Given the description of an element on the screen output the (x, y) to click on. 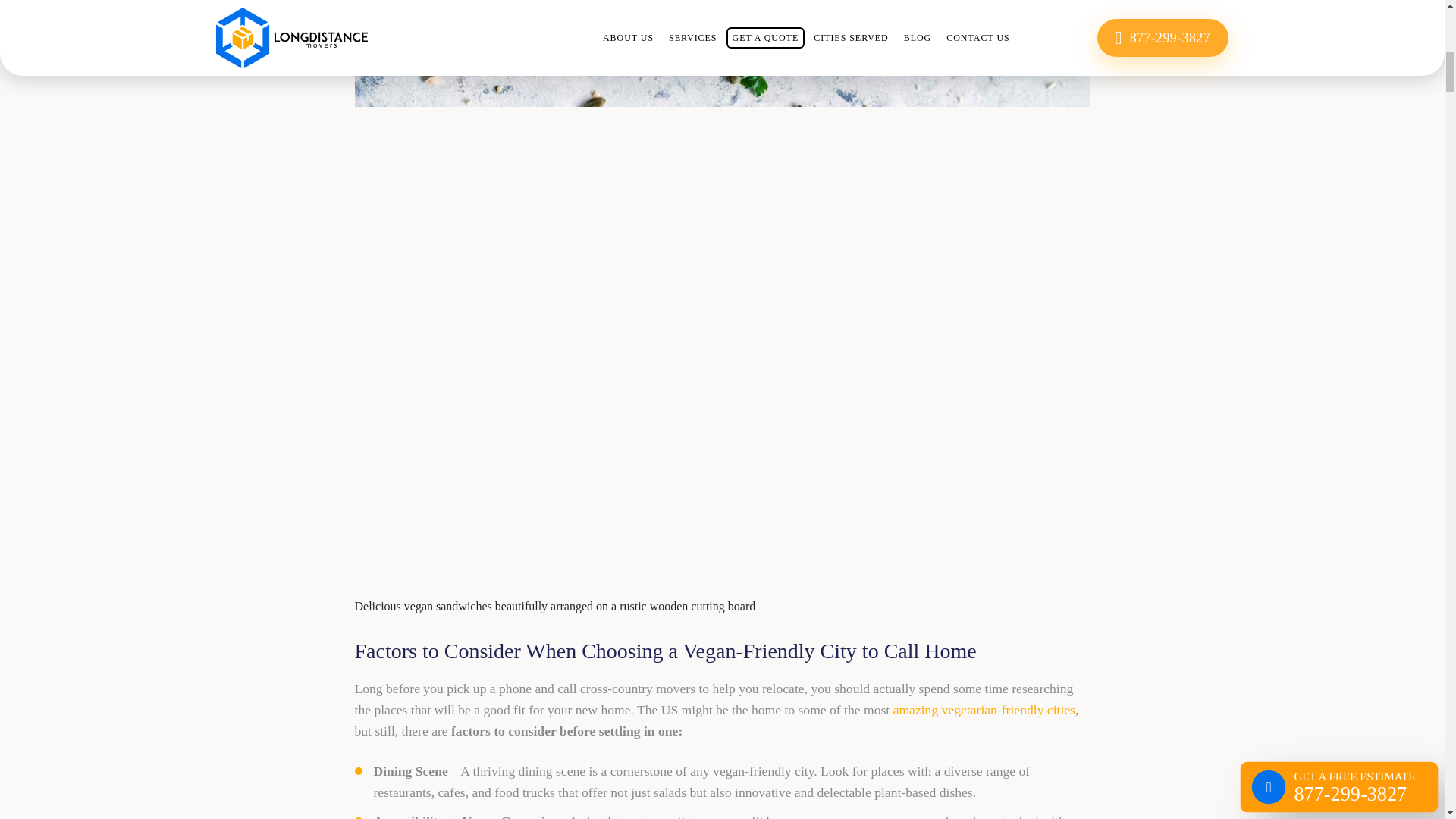
amazing vegetarian-friendly cities (984, 709)
